Given the description of an element on the screen output the (x, y) to click on. 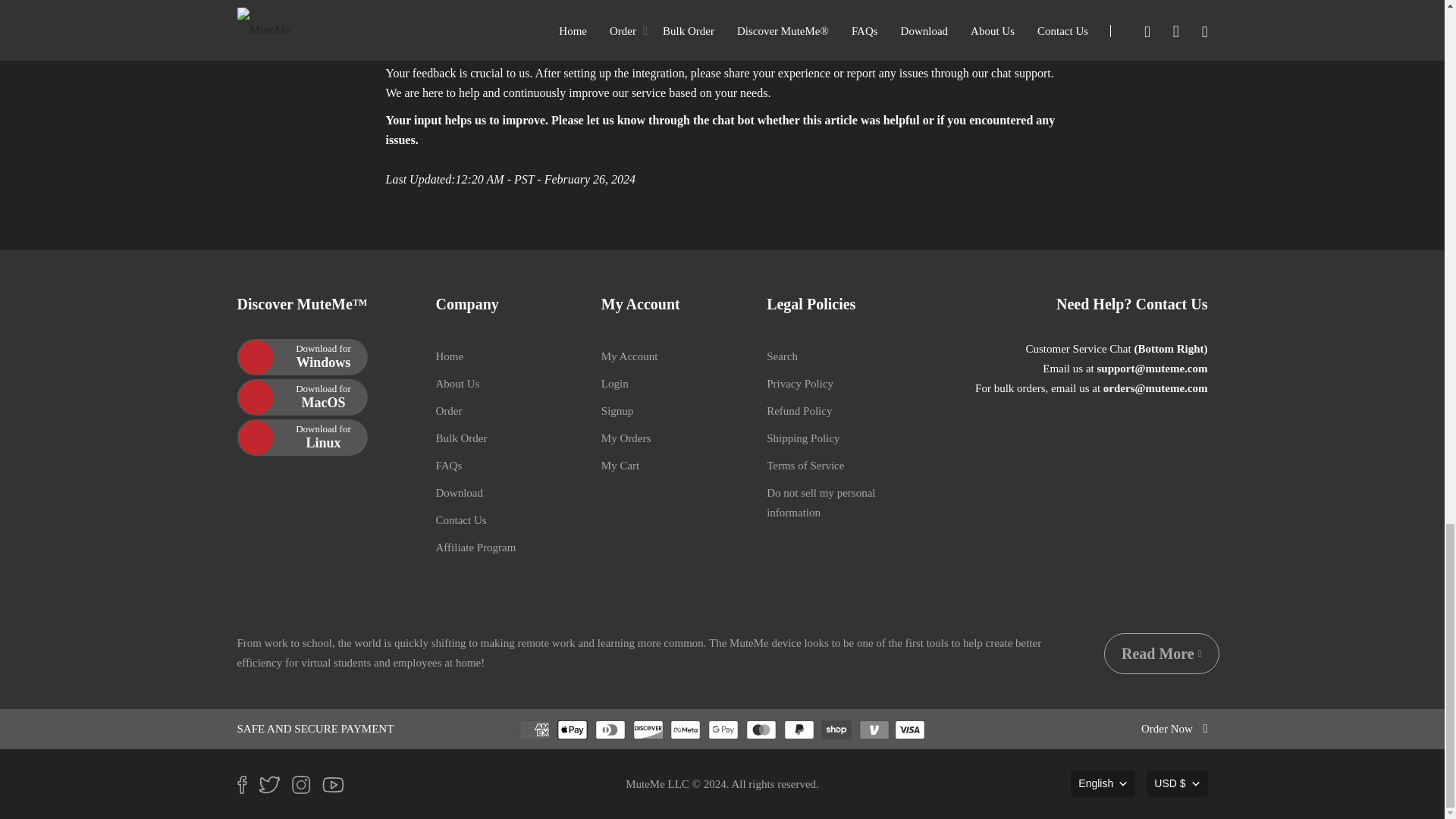
Meta Pay (684, 729)
PayPal (798, 729)
Diners Club (610, 729)
Visa (909, 729)
Discover (646, 729)
Shop Pay (836, 729)
American Express (534, 729)
Mastercard (760, 729)
Venmo (874, 729)
Google Pay (722, 729)
Download for Windows (300, 357)
Twitter (274, 787)
Apple Pay (572, 729)
Instagram (306, 787)
YouTube (338, 787)
